Given the description of an element on the screen output the (x, y) to click on. 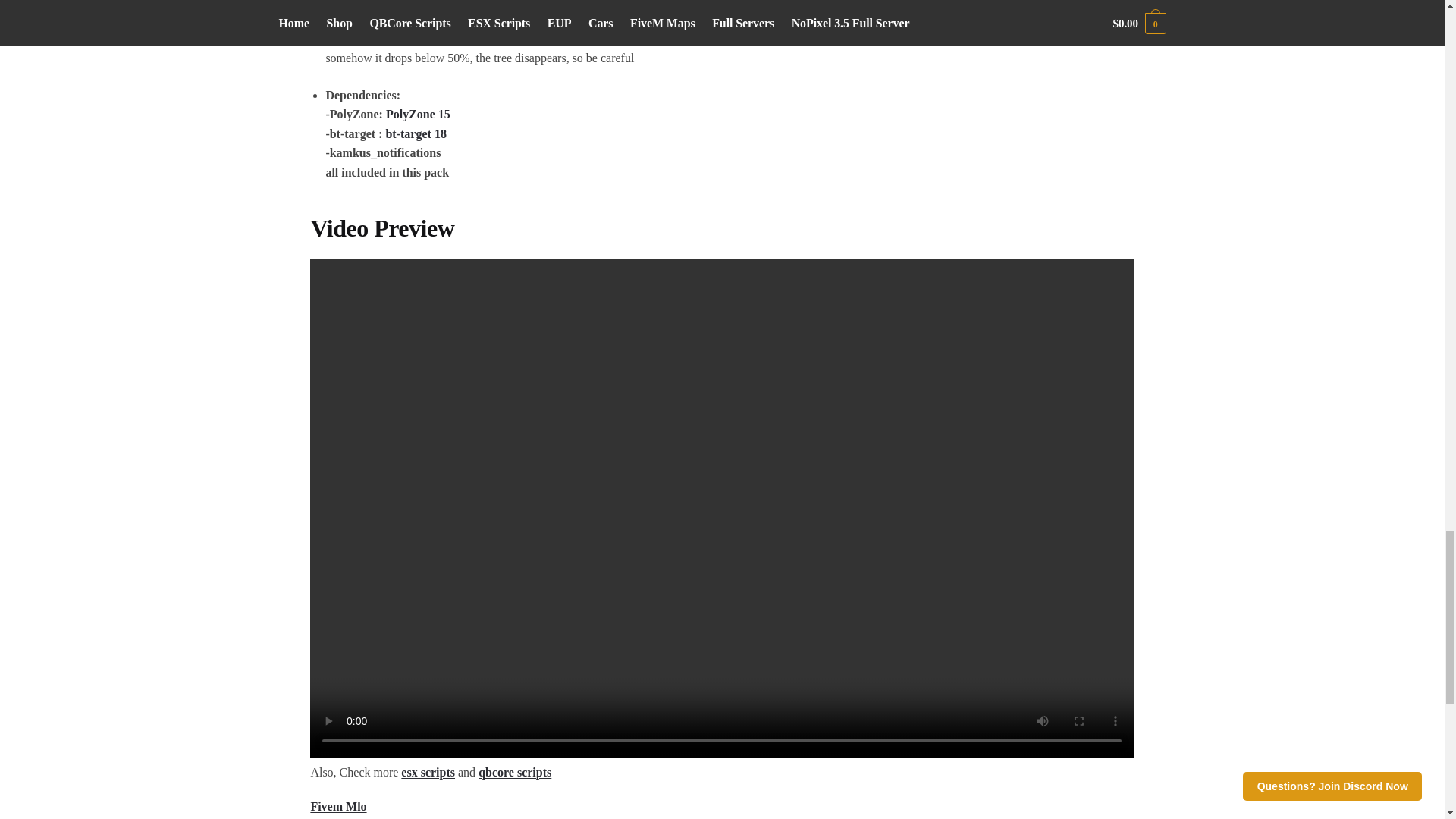
15 clicks (443, 113)
18 clicks (439, 133)
PolyZone 15 (417, 113)
